Given the description of an element on the screen output the (x, y) to click on. 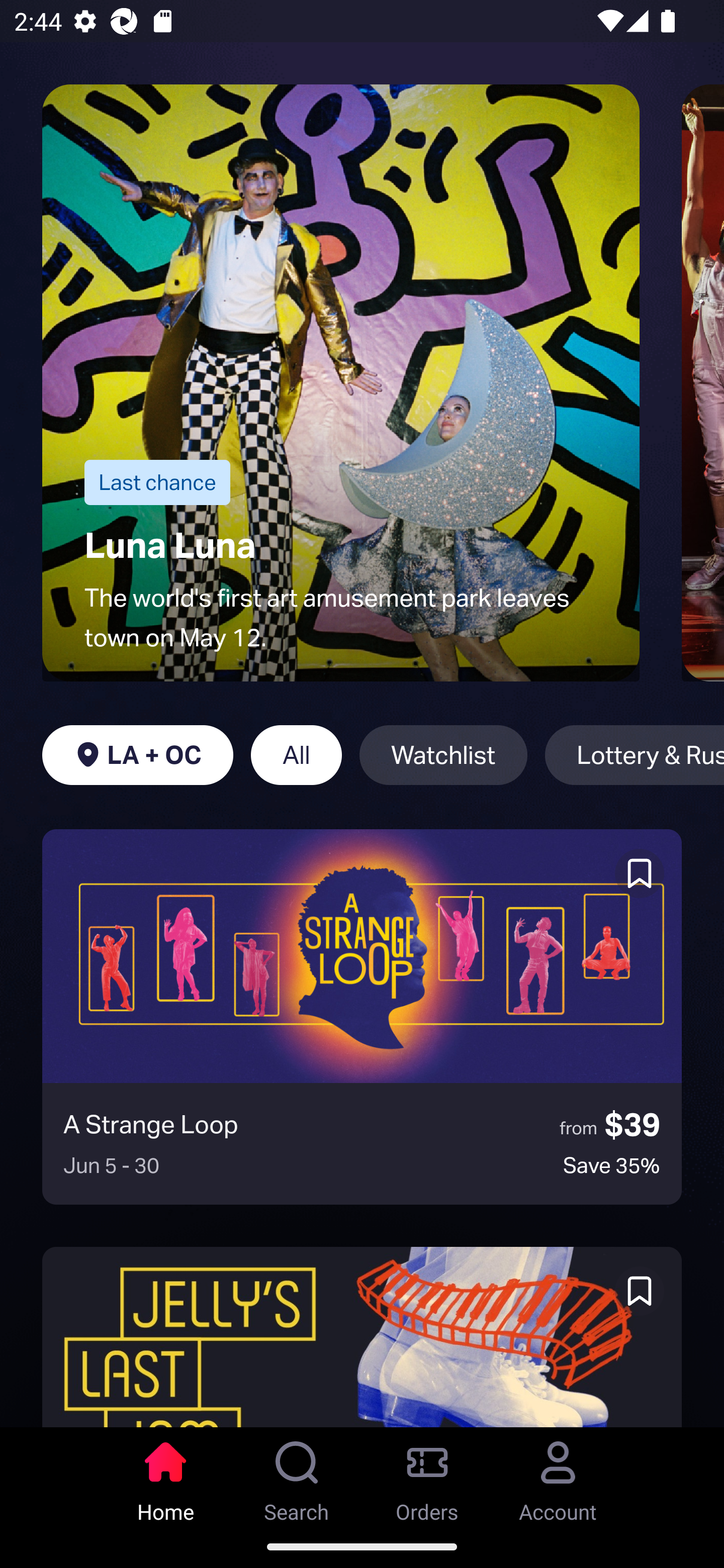
LA + OC (137, 754)
All (296, 754)
Watchlist (443, 754)
Lottery & Rush (634, 754)
A Strange Loop from $39 Jun 5 - 30 Save 35% (361, 1016)
Search (296, 1475)
Orders (427, 1475)
Account (558, 1475)
